Given the description of an element on the screen output the (x, y) to click on. 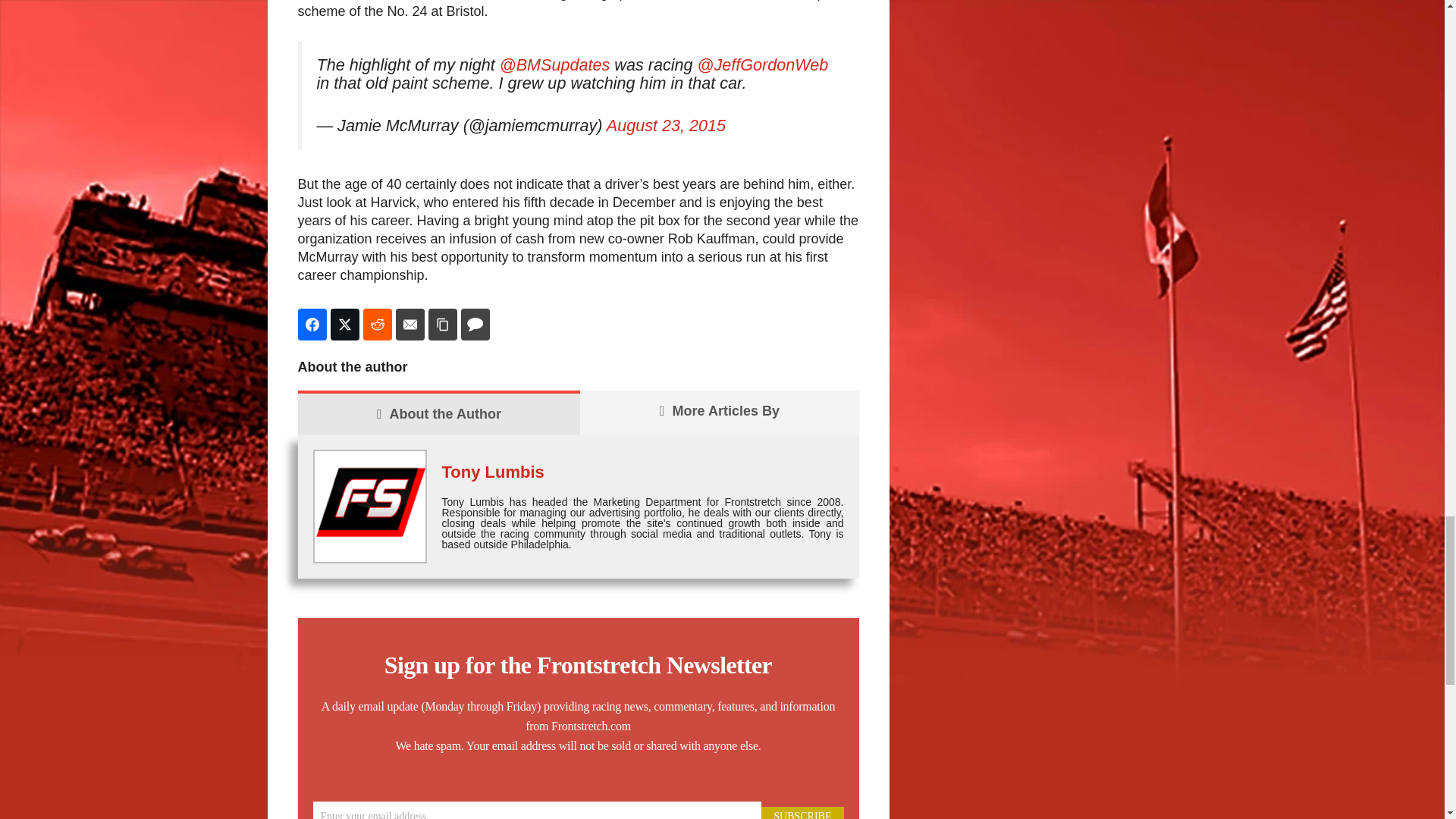
August 23, 2015 (666, 125)
Share on Copy Link (442, 324)
Jeff Gordon (348, 0)
Tony Lumbis (492, 471)
Share on Comments (475, 324)
Share on Twitter (344, 324)
Share on Reddit (376, 324)
Share on Email (410, 324)
Share on Facebook (311, 324)
